Given the description of an element on the screen output the (x, y) to click on. 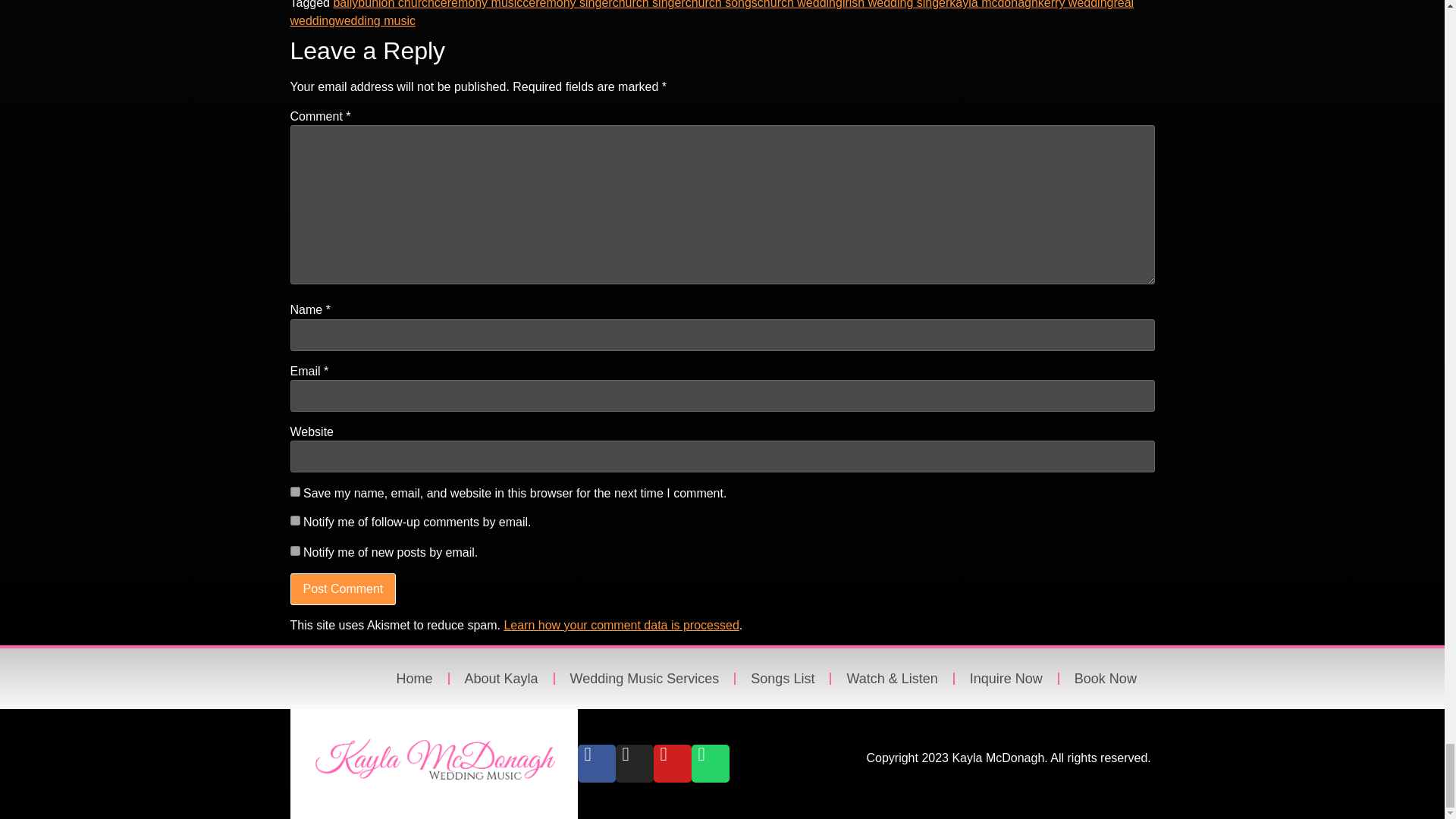
Post Comment (342, 589)
subscribe (294, 520)
ballybunion church (383, 4)
church singer (648, 4)
ceremony singer (566, 4)
subscribe (294, 551)
yes (294, 491)
ceremony music (477, 4)
